Given the description of an element on the screen output the (x, y) to click on. 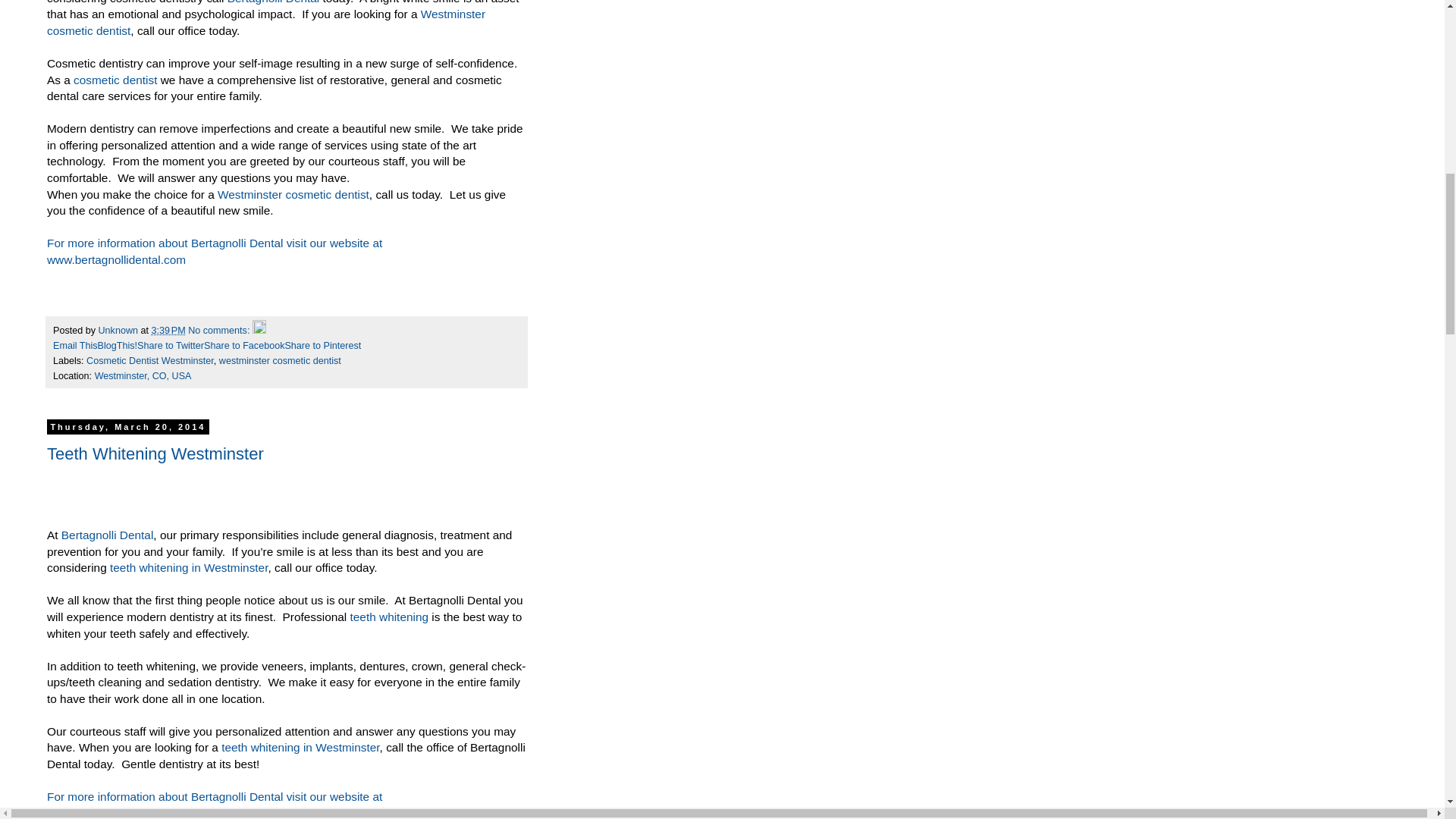
No comments: (219, 330)
Bertagnolli Dental (273, 2)
permanent link (168, 330)
westminster cosmetic dentist (279, 360)
Unknown (120, 330)
Share to Twitter (169, 345)
Email This (74, 345)
Westminster, CO, USA (143, 376)
Edit Post (258, 330)
Cosmetic Dentist Westminster (149, 360)
Share to Facebook (243, 345)
Share to Pinterest (322, 345)
Westminster cosmetic dentist (292, 194)
